Given the description of an element on the screen output the (x, y) to click on. 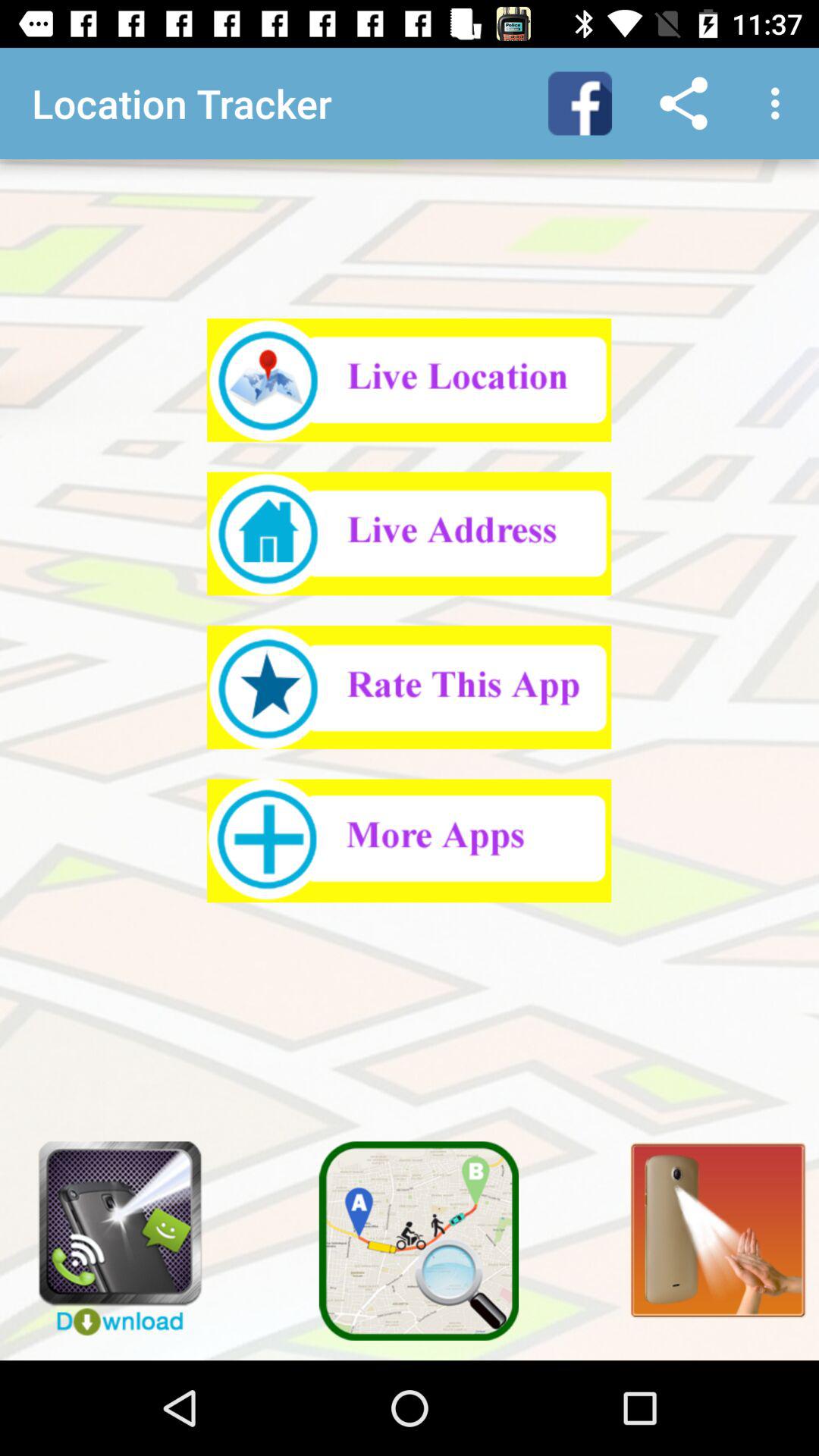
view facebook page (579, 103)
